Given the description of an element on the screen output the (x, y) to click on. 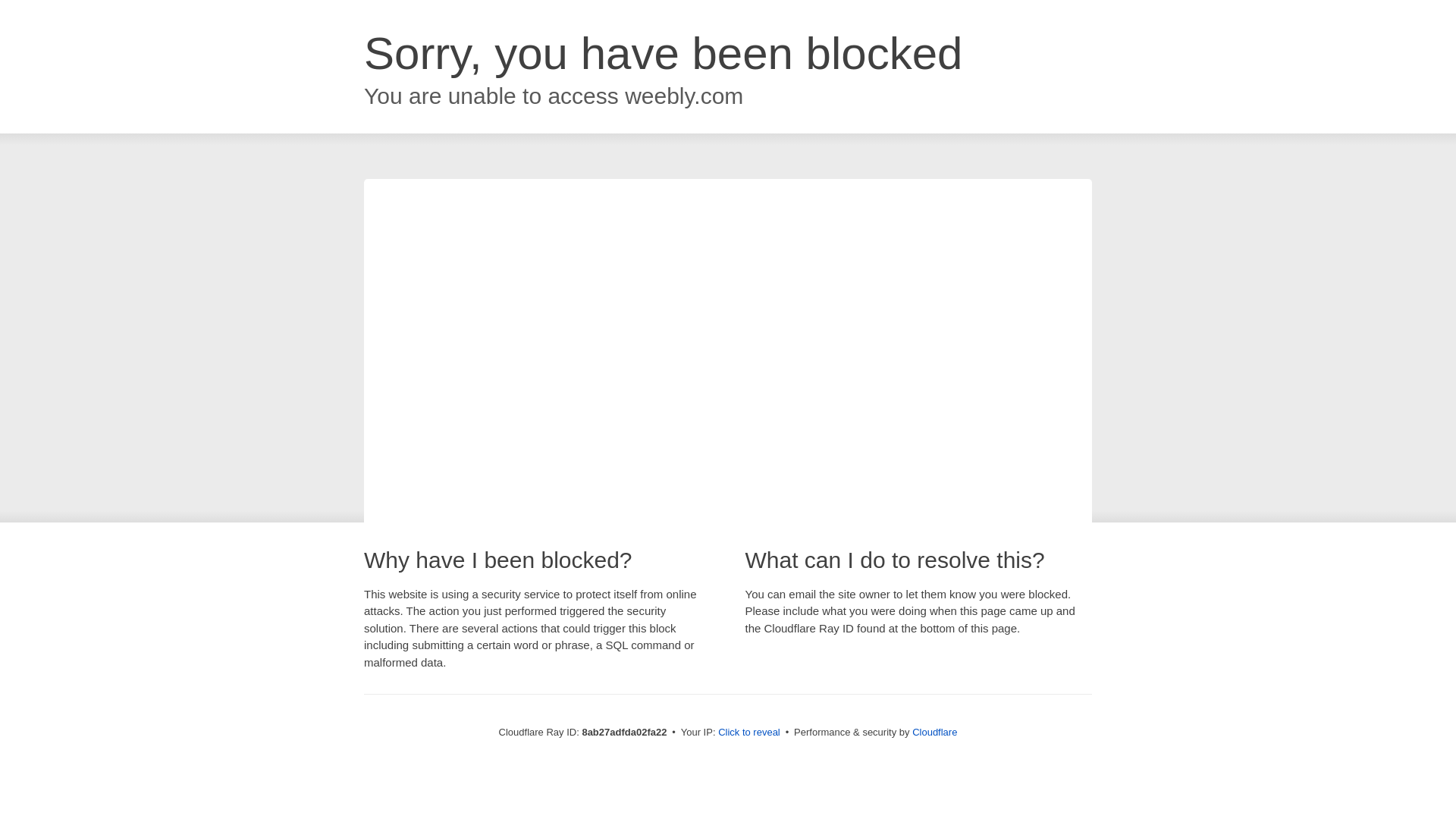
Click to reveal (748, 732)
Cloudflare (934, 731)
